Given the description of an element on the screen output the (x, y) to click on. 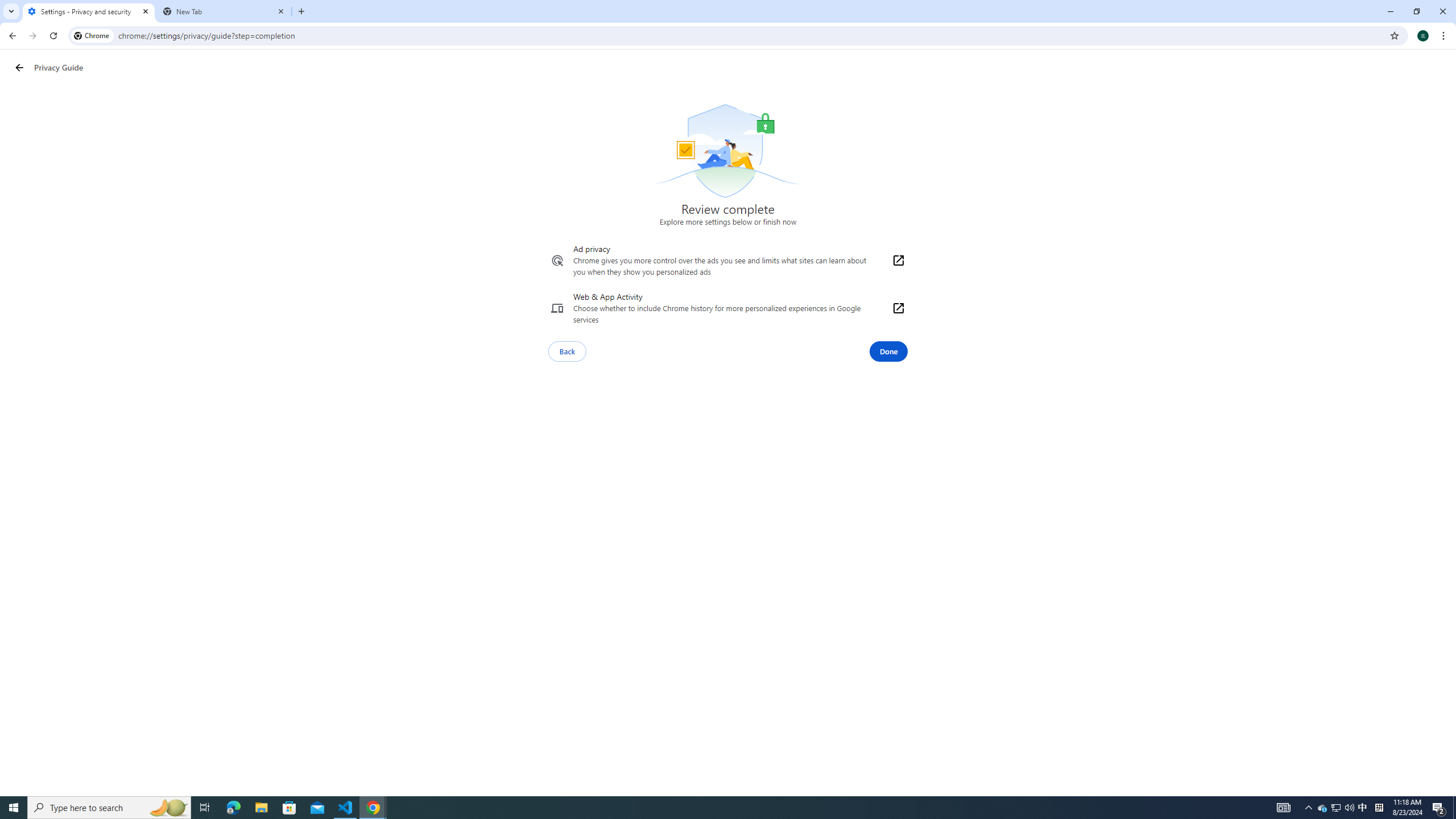
Privacy Guide back button (19, 67)
Settings - Privacy and security (88, 11)
New Tab (224, 11)
New Tab (301, 11)
Search tabs (10, 11)
Restore (1416, 11)
Back (10, 35)
Reload (52, 35)
Bookmark this tab (1393, 35)
